Given the description of an element on the screen output the (x, y) to click on. 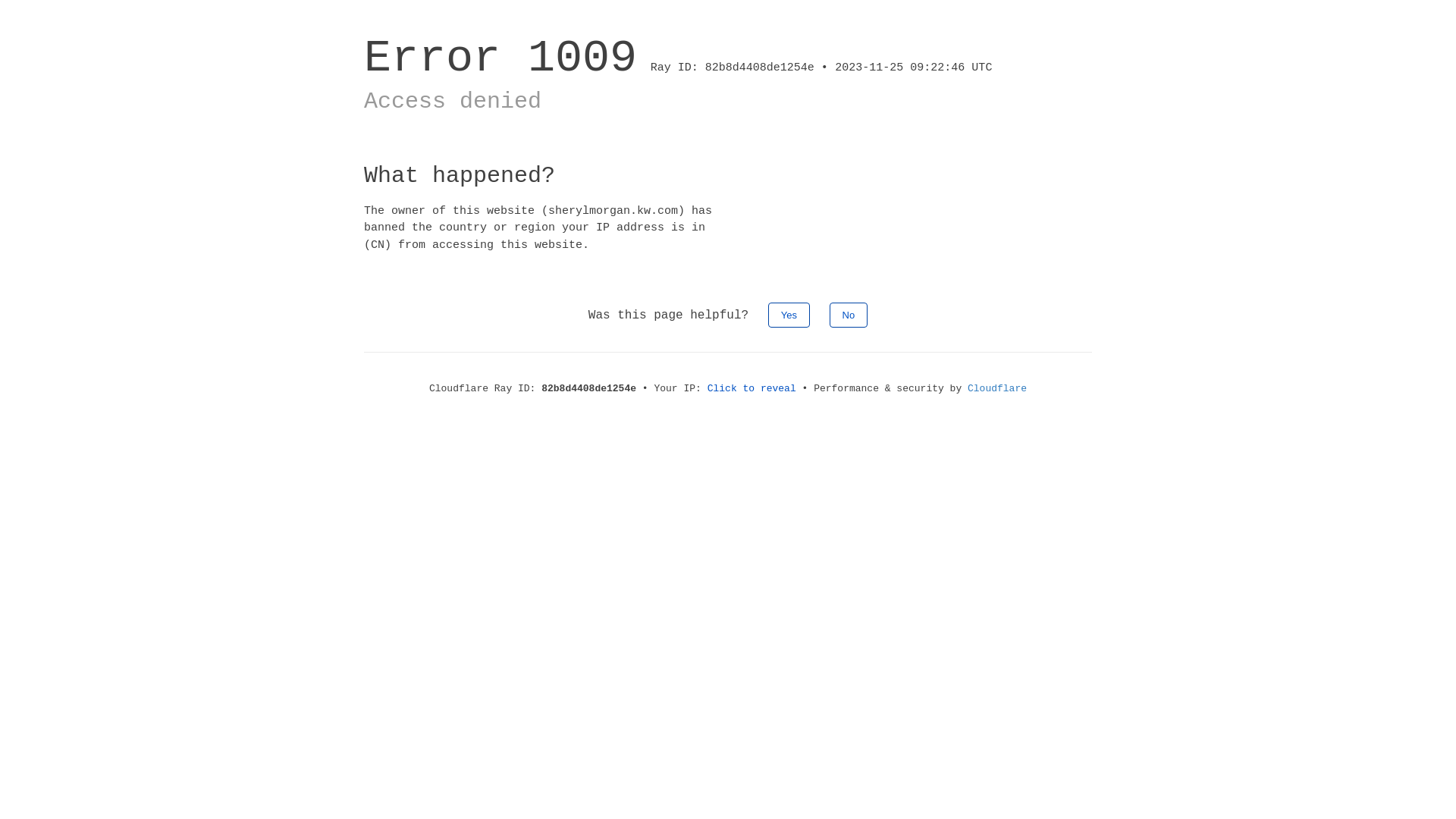
Cloudflare Element type: text (996, 388)
Yes Element type: text (788, 314)
No Element type: text (848, 314)
Click to reveal Element type: text (751, 388)
